Given the description of an element on the screen output the (x, y) to click on. 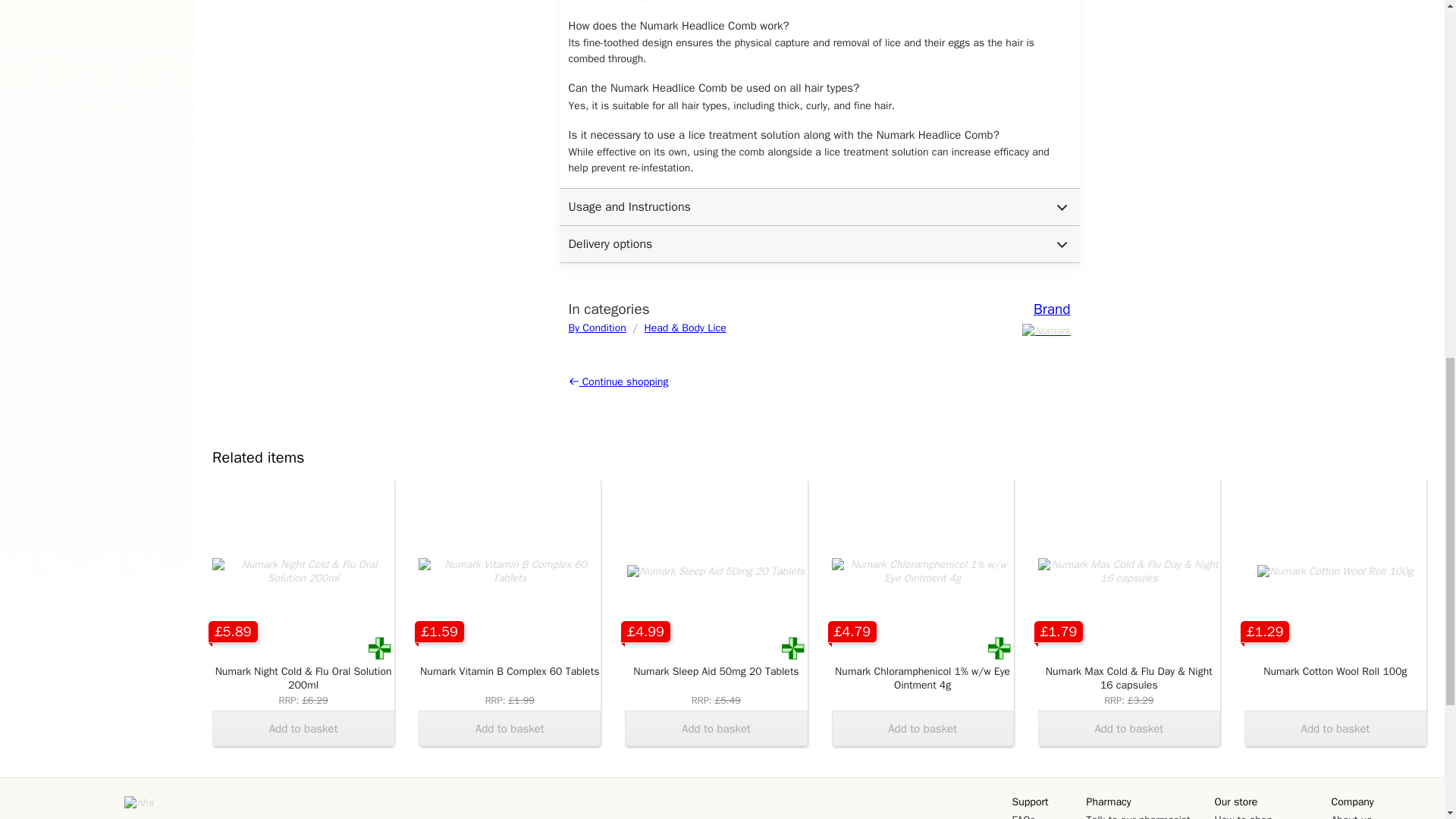
Reviews Badge Widget (64, 807)
